Given the description of an element on the screen output the (x, y) to click on. 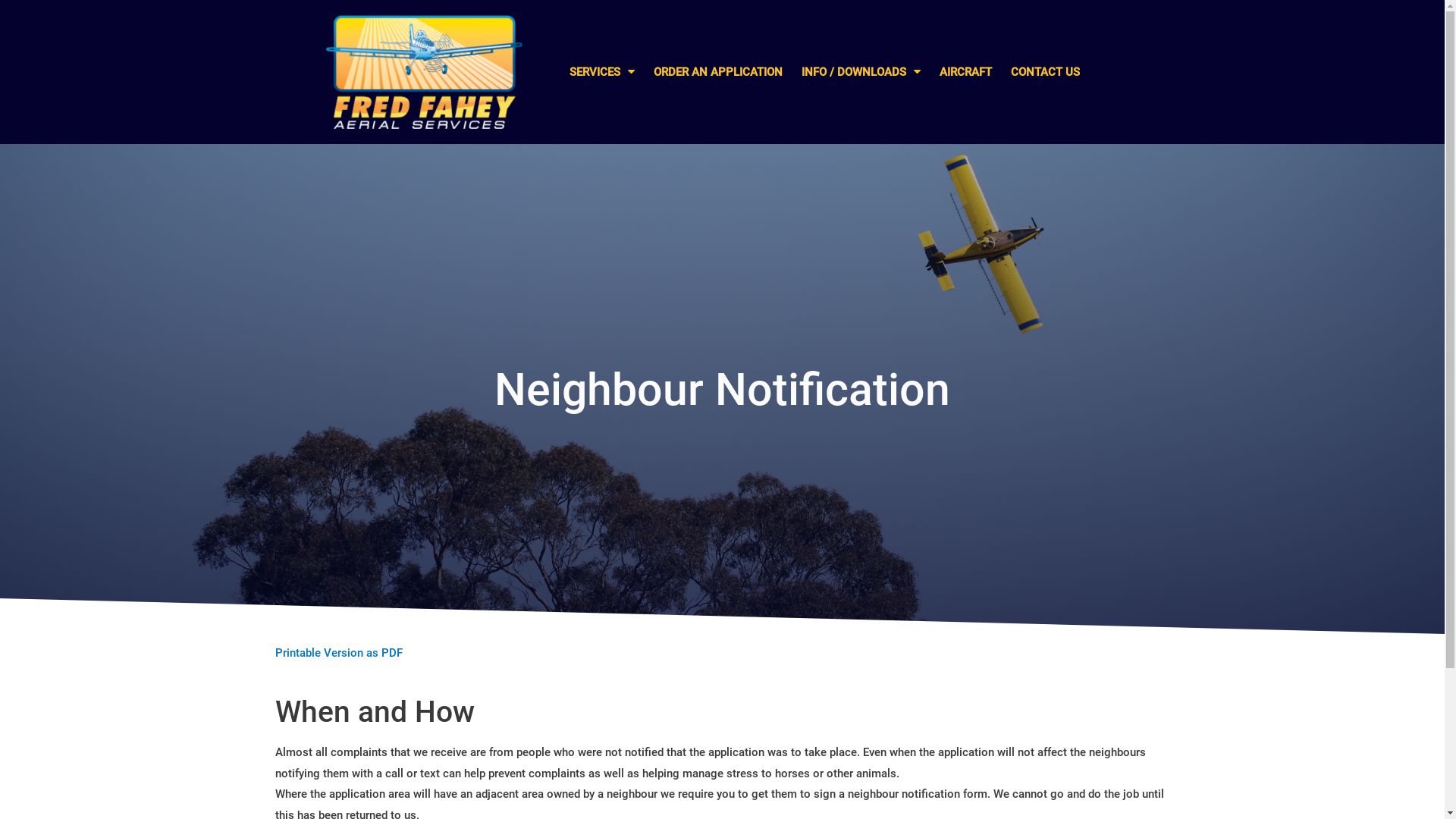
INFO / DOWNLOADS Element type: text (860, 71)
Printable Version as PDF Element type: text (337, 652)
AIRCRAFT Element type: text (965, 71)
SERVICES Element type: text (601, 71)
CONTACT US Element type: text (1044, 71)
Neighbour Notification Element type: text (722, 389)
ORDER AN APPLICATION Element type: text (717, 71)
